Given the description of an element on the screen output the (x, y) to click on. 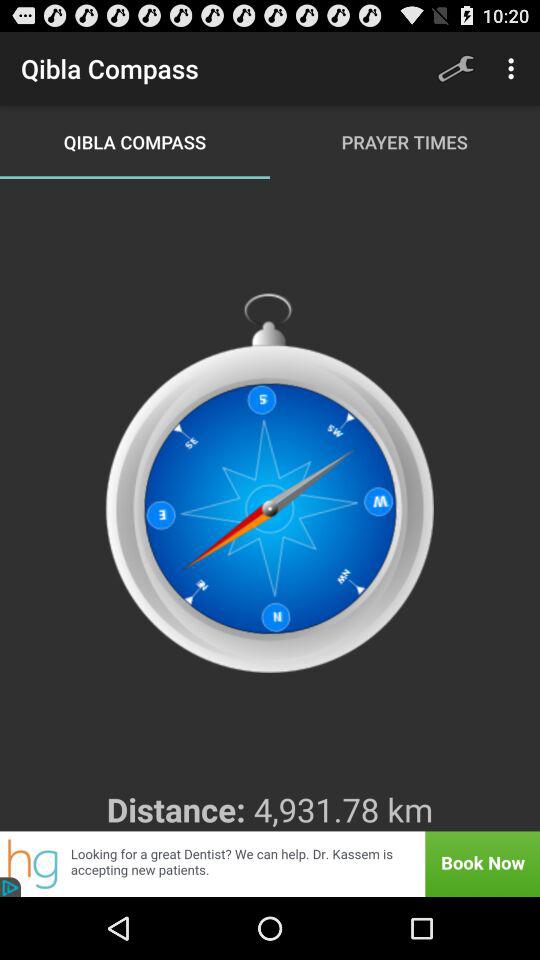
press app next to qibla compass item (455, 67)
